Given the description of an element on the screen output the (x, y) to click on. 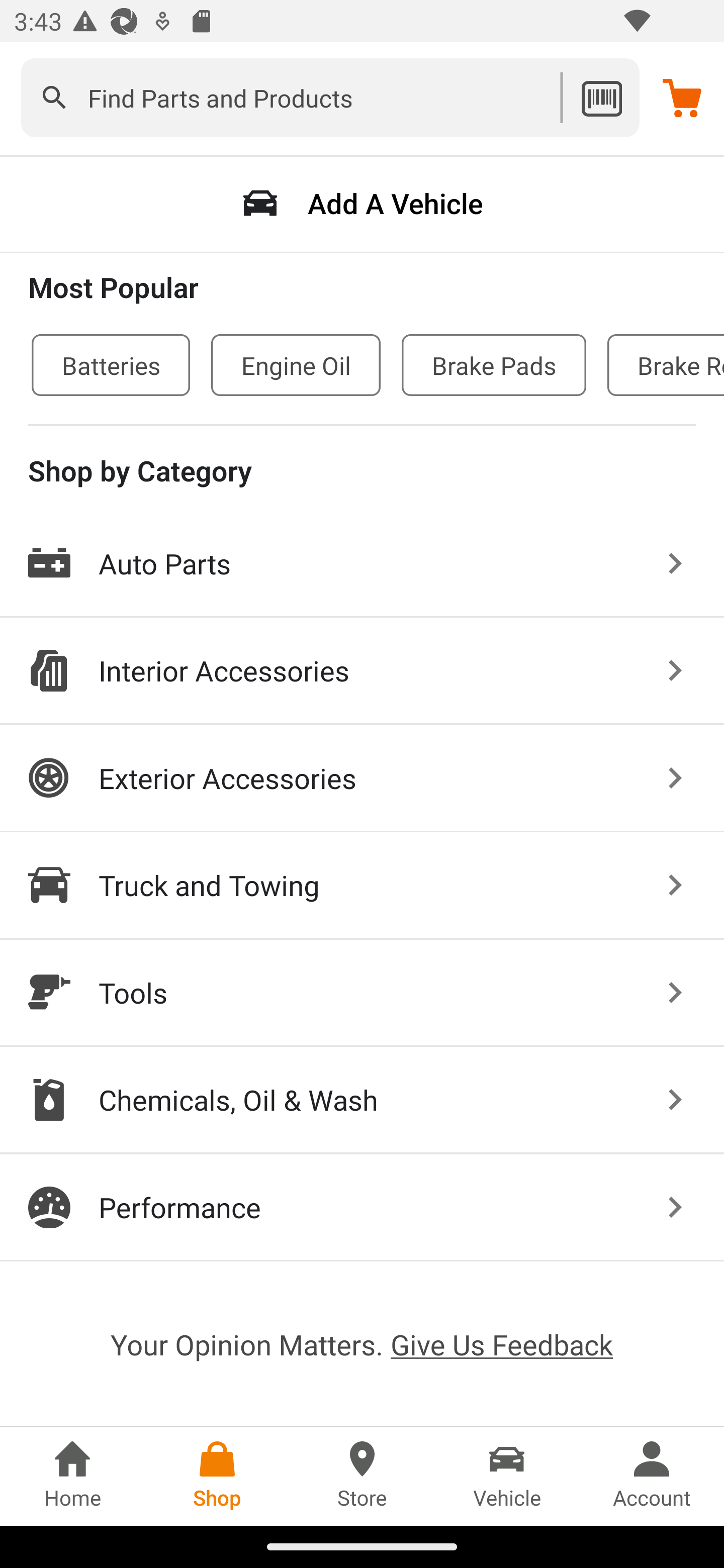
 scan-product-to-search  (601, 97)
 (54, 97)
Cart, no items  (681, 97)
add-vehicle-button  Add A Vehicle (362, 202)
Batteries (110, 364)
Engine Oil (295, 364)
Brake Pads (493, 364)
Brake Rotors (665, 364)
Auto Parts category  Auto Parts  (362, 564)
Truck and Towing category  Truck and Towing  (362, 885)
Tools category  Tools  (362, 993)
Performance category  Performance  (362, 1207)
Home (72, 1475)
Shop (216, 1475)
Store (361, 1475)
Vehicle (506, 1475)
Account (651, 1475)
